Given the description of an element on the screen output the (x, y) to click on. 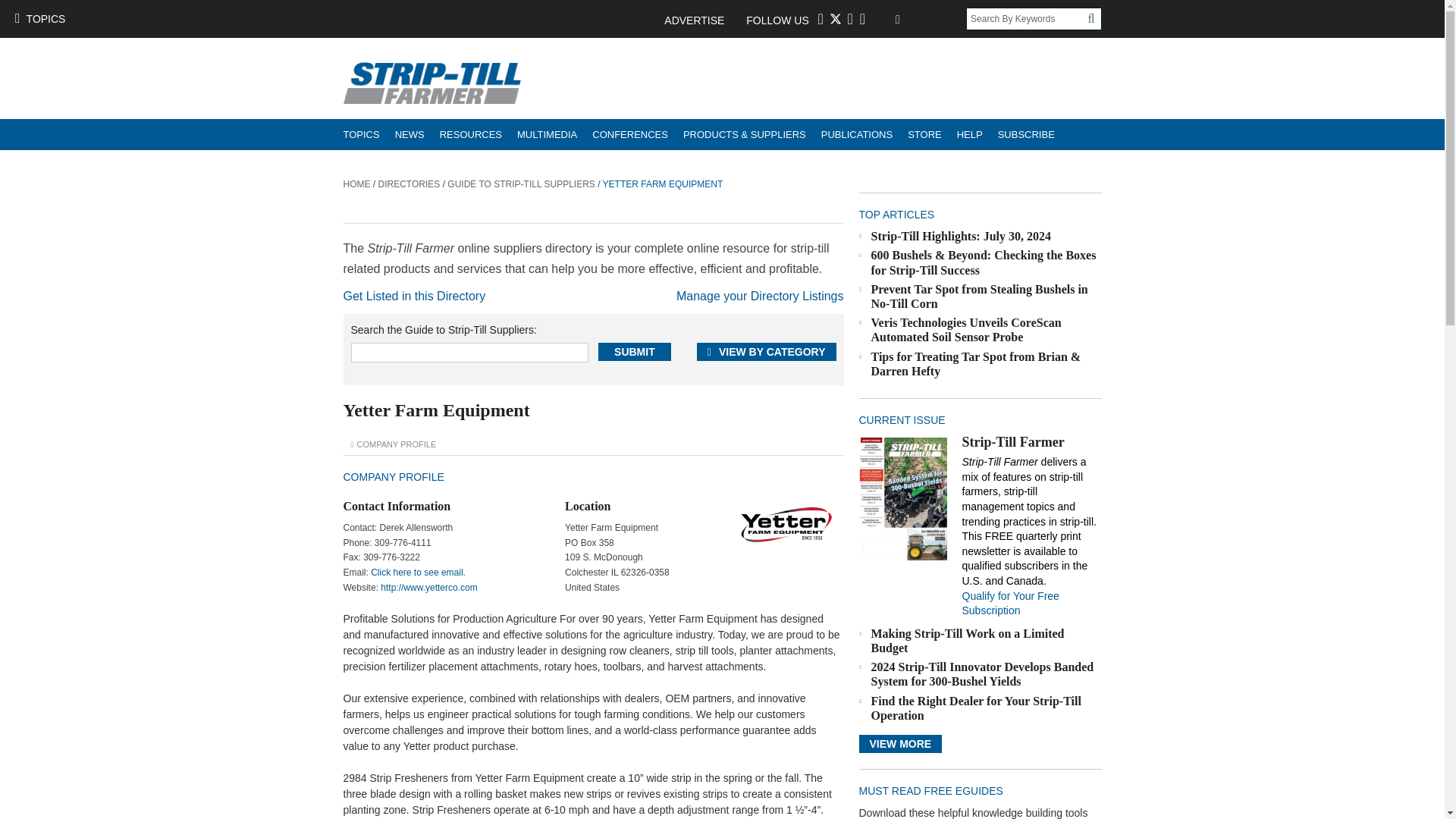
NEWS (409, 133)
Strip-Till Farmer (903, 497)
TOPICS (39, 18)
TOPICS (360, 133)
Strip-Till Highlights: July 30, 2024 (960, 236)
Submit (634, 352)
Search By Keywords (1026, 18)
Prevent Tar Spot from Stealing Bushels in No-Till Corn (978, 296)
